Given the description of an element on the screen output the (x, y) to click on. 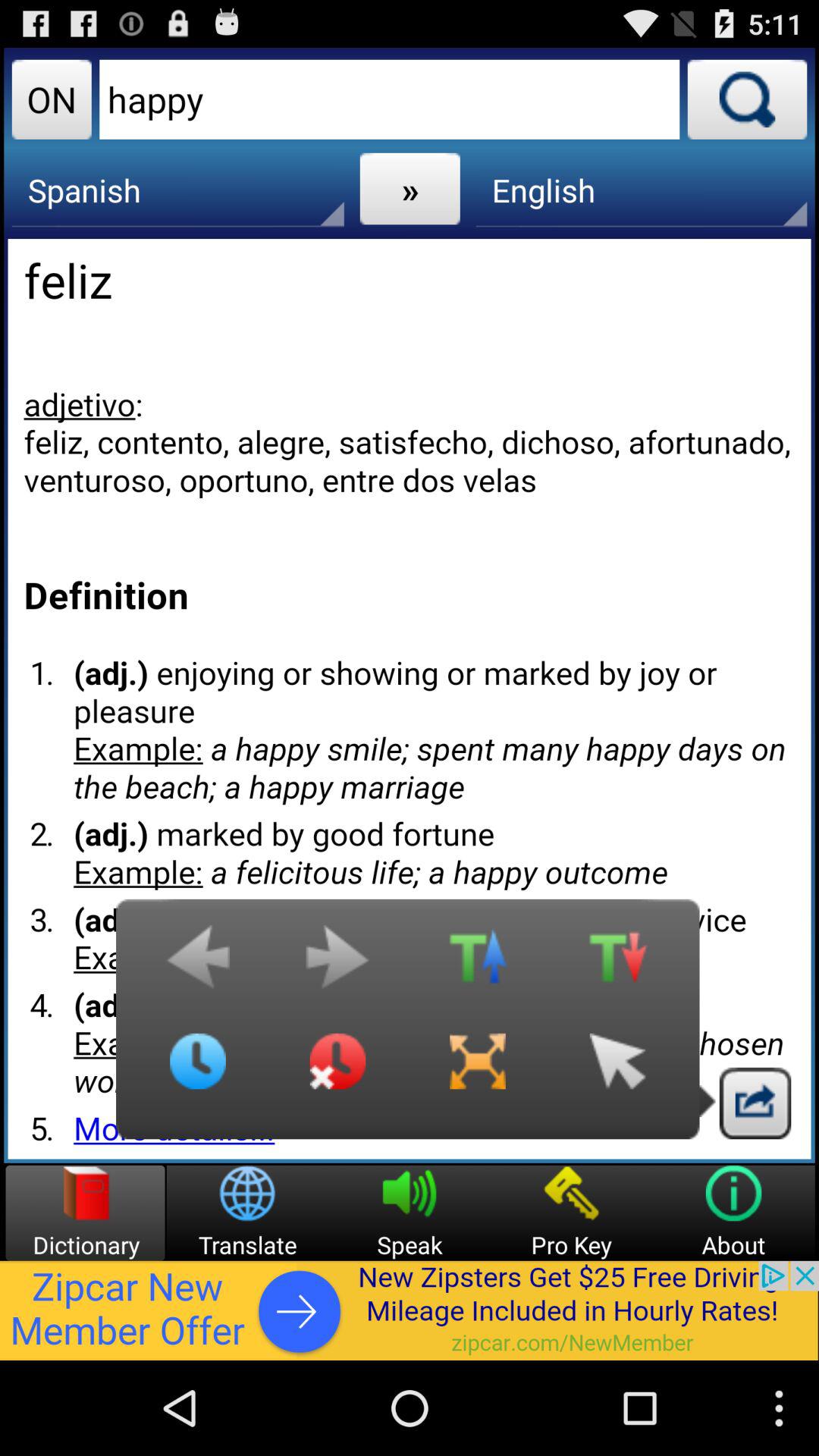
time icon (337, 1073)
